Given the description of an element on the screen output the (x, y) to click on. 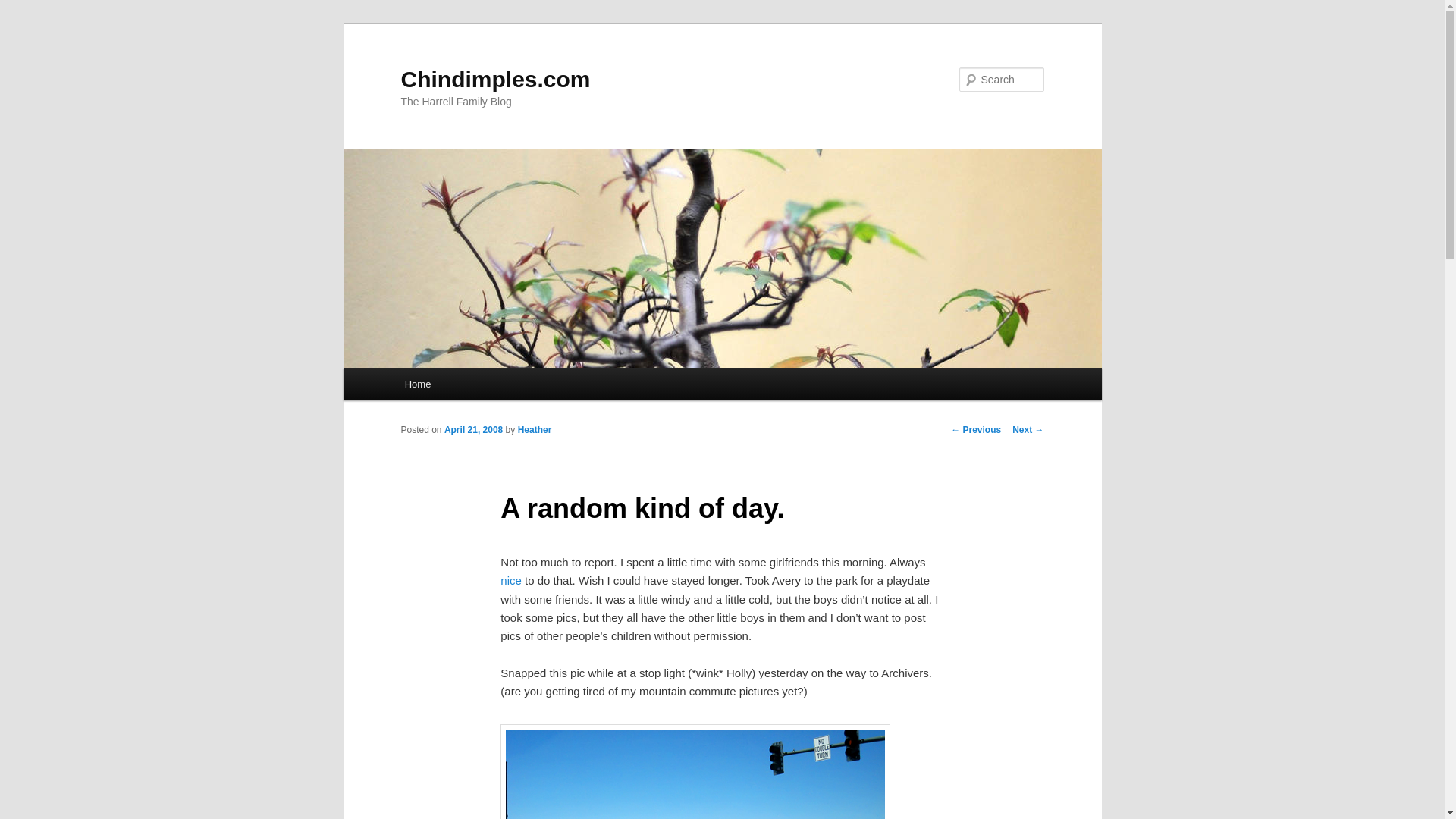
nice (510, 580)
Search (24, 8)
9:09 pm (473, 429)
Chindimples.com (494, 78)
Heather (534, 429)
April 21, 2008 (473, 429)
View all posts by Heather (534, 429)
Home (417, 383)
